Given the description of an element on the screen output the (x, y) to click on. 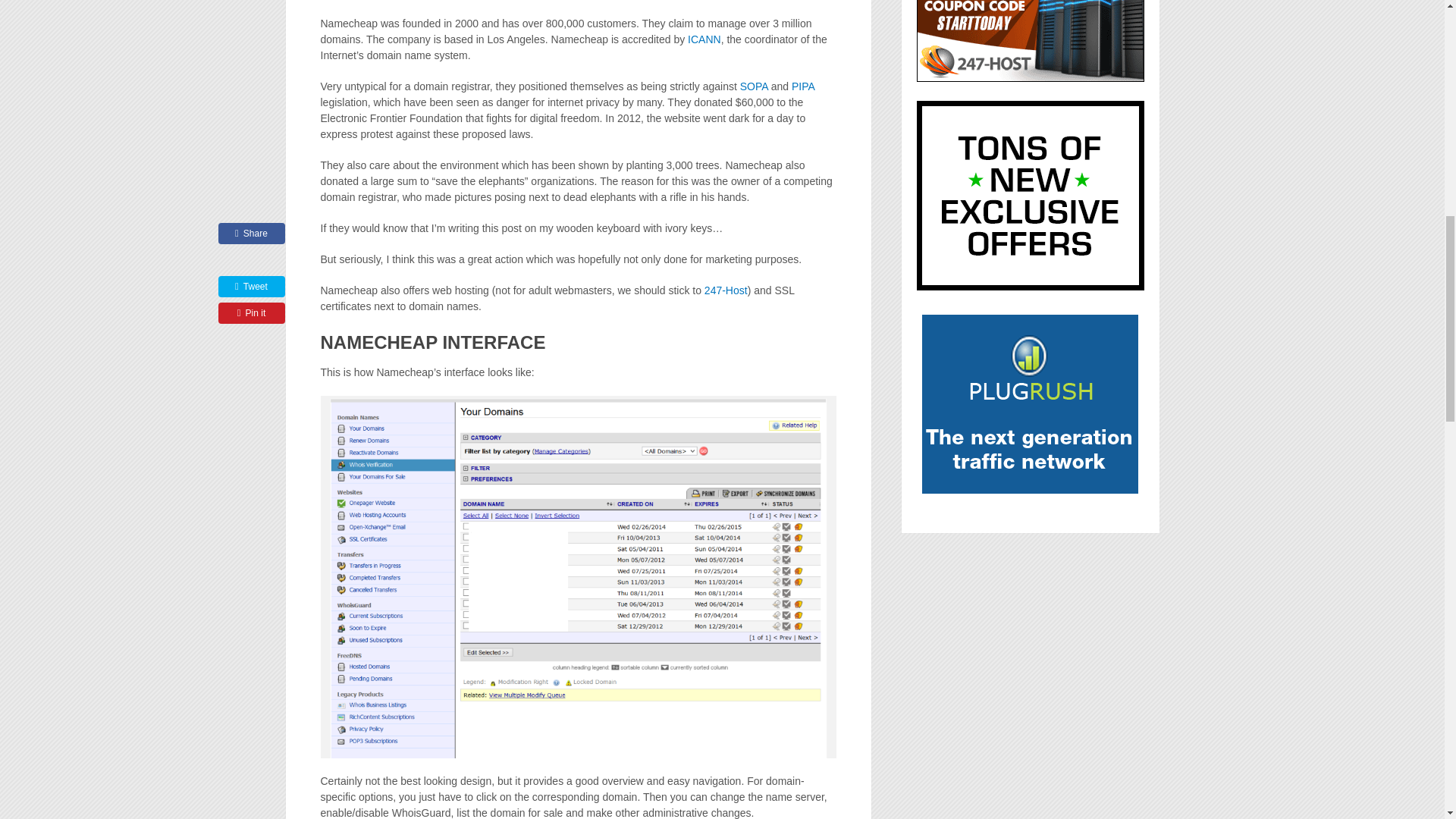
PIPA Wikipedia Explanation (802, 86)
PIPA (802, 86)
247-Host (726, 290)
ICANN (703, 39)
SOPA (753, 86)
Wikipedia SOPA explanation (753, 86)
ICANN (703, 39)
